Given the description of an element on the screen output the (x, y) to click on. 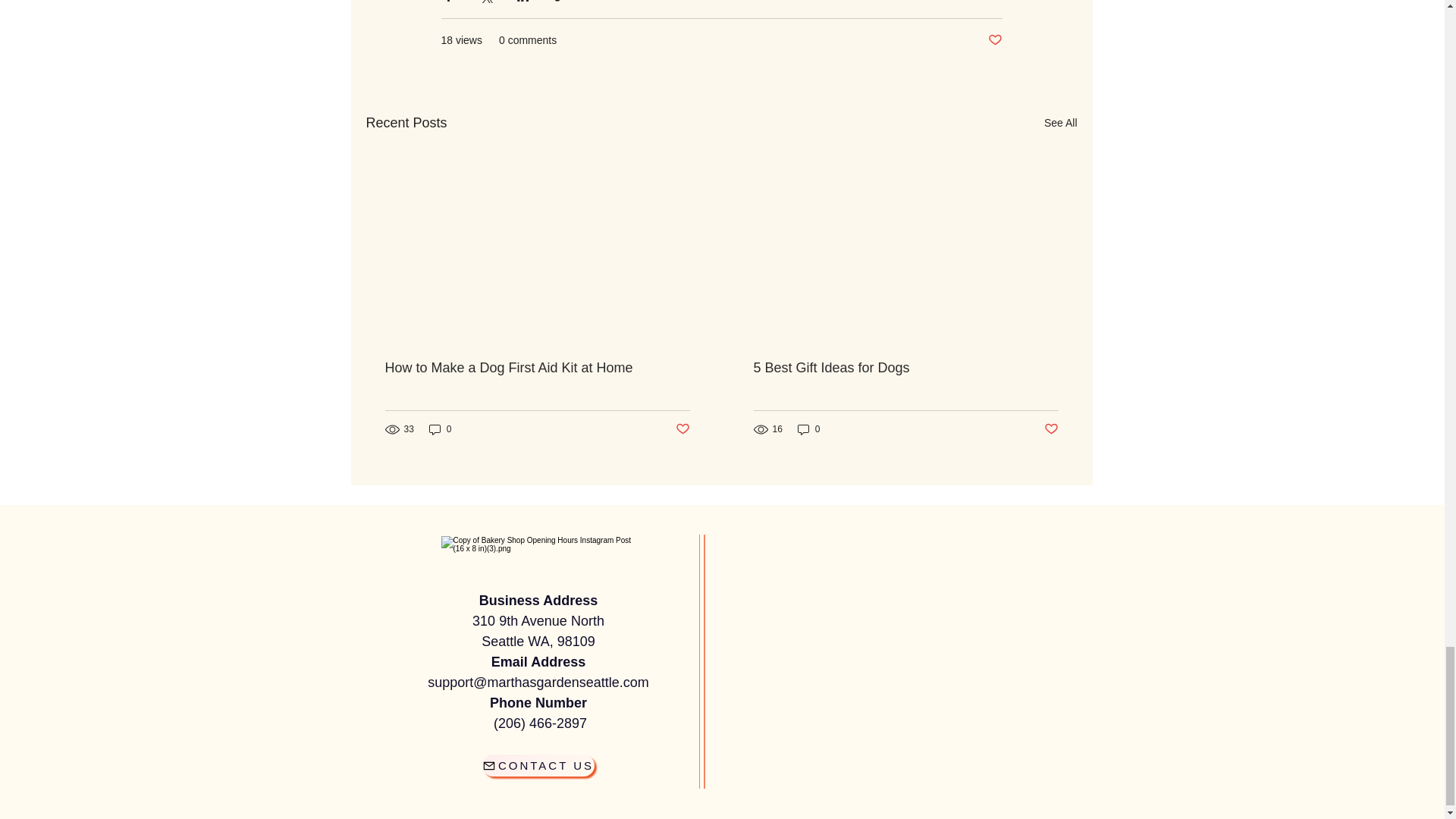
0 (440, 429)
0 (809, 429)
Post not marked as liked (681, 429)
See All (1060, 123)
Post not marked as liked (994, 40)
5 Best Gift Ideas for Dogs (906, 367)
Post not marked as liked (1050, 429)
How to Make a Dog First Aid Kit at Home (537, 367)
